Given the description of an element on the screen output the (x, y) to click on. 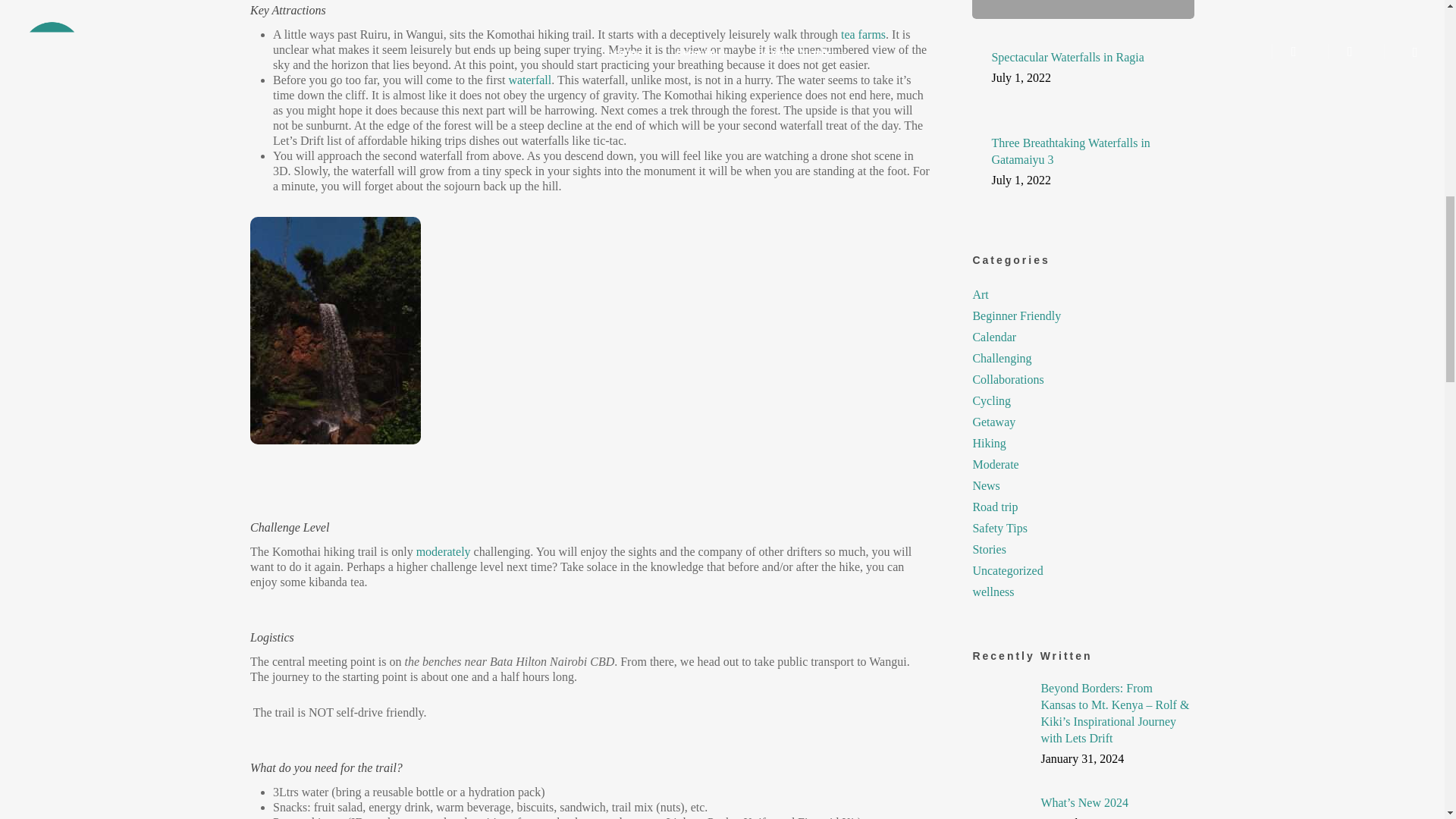
waterfall (529, 79)
tea farms (863, 33)
moderately (443, 551)
